Given the description of an element on the screen output the (x, y) to click on. 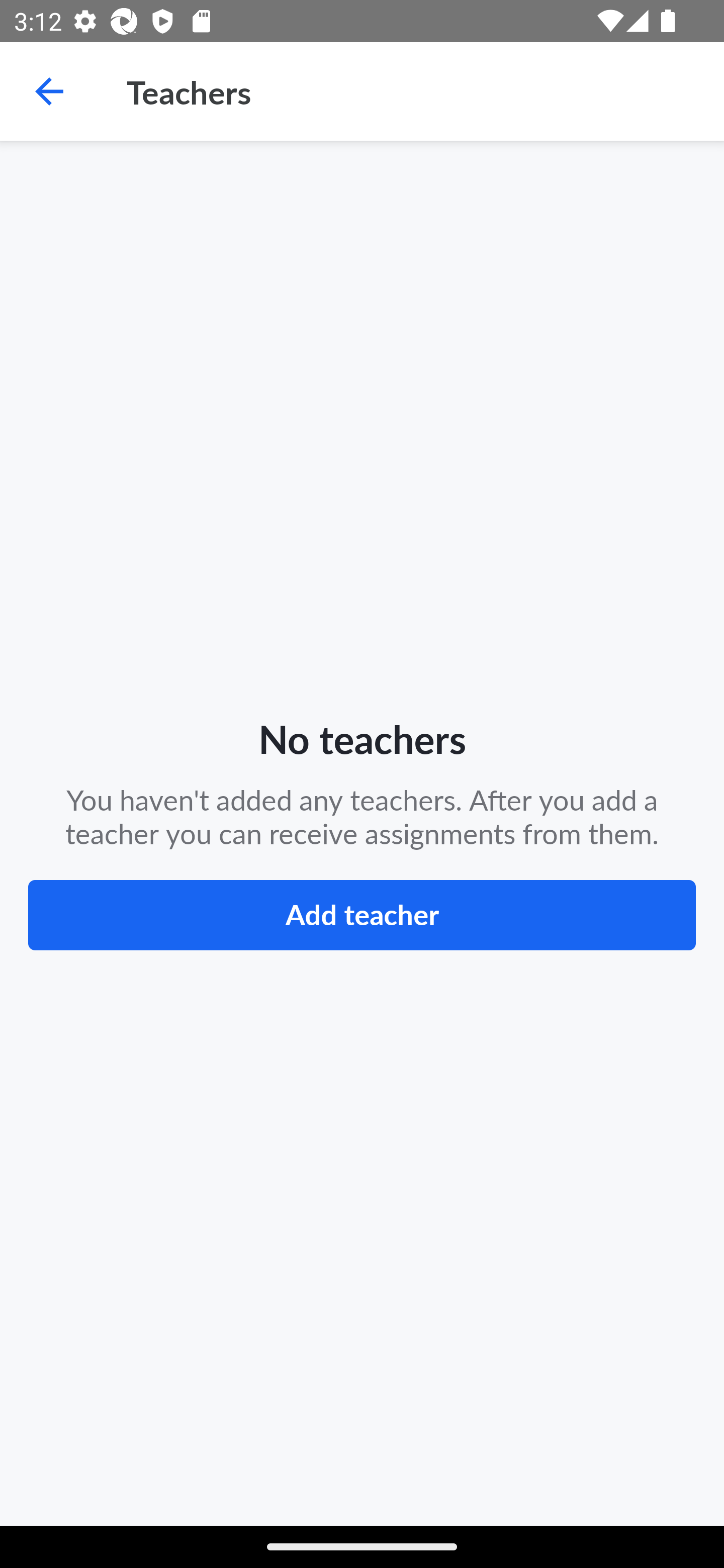
Navigate up (49, 91)
Add teacher (361, 914)
